Given the description of an element on the screen output the (x, y) to click on. 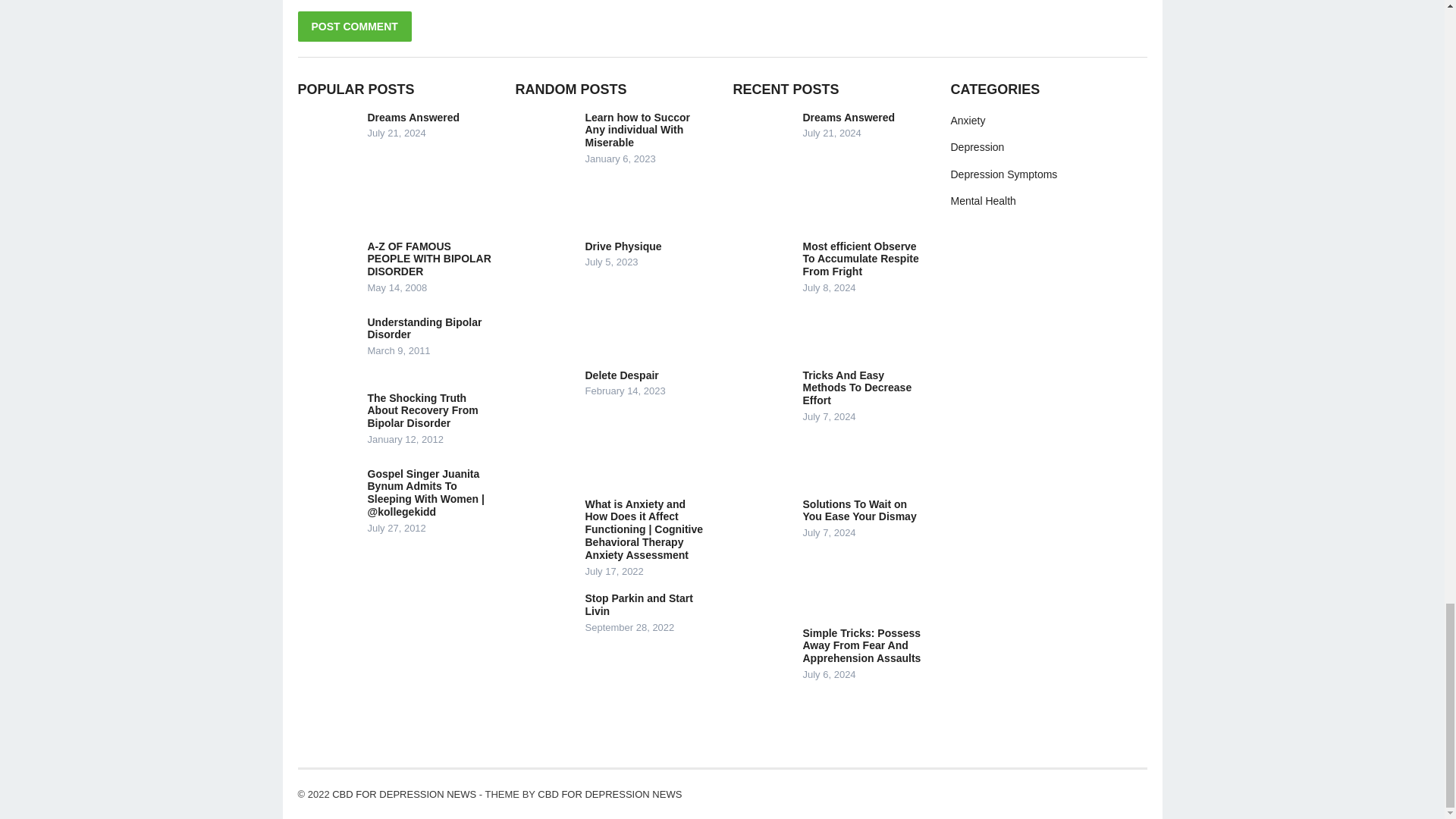
Post Comment (353, 26)
